Given the description of an element on the screen output the (x, y) to click on. 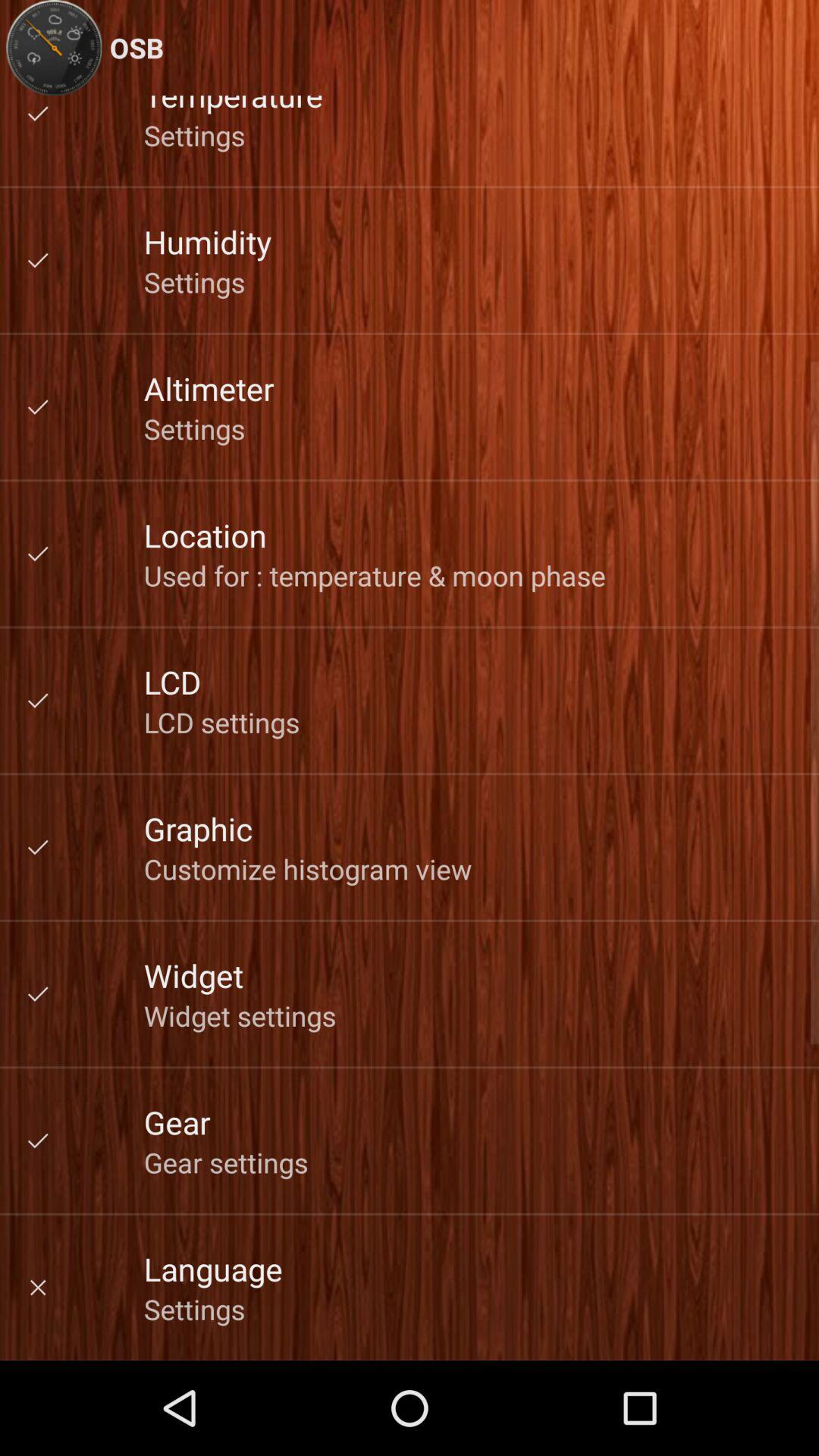
launch the humidity item (207, 241)
